Given the description of an element on the screen output the (x, y) to click on. 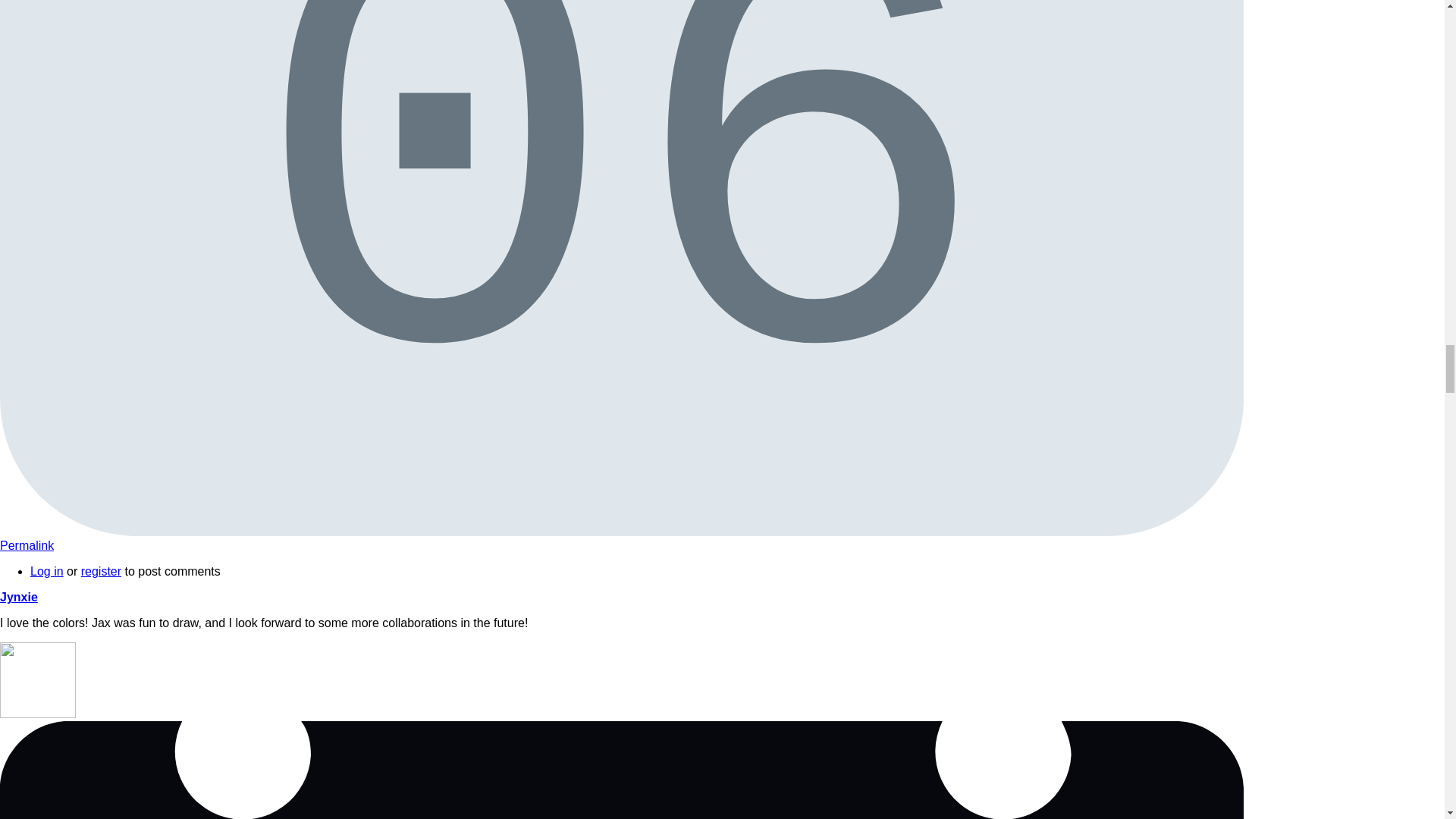
Permalink (26, 545)
Log in (621, 770)
register (47, 571)
Jynxie (100, 571)
